Given the description of an element on the screen output the (x, y) to click on. 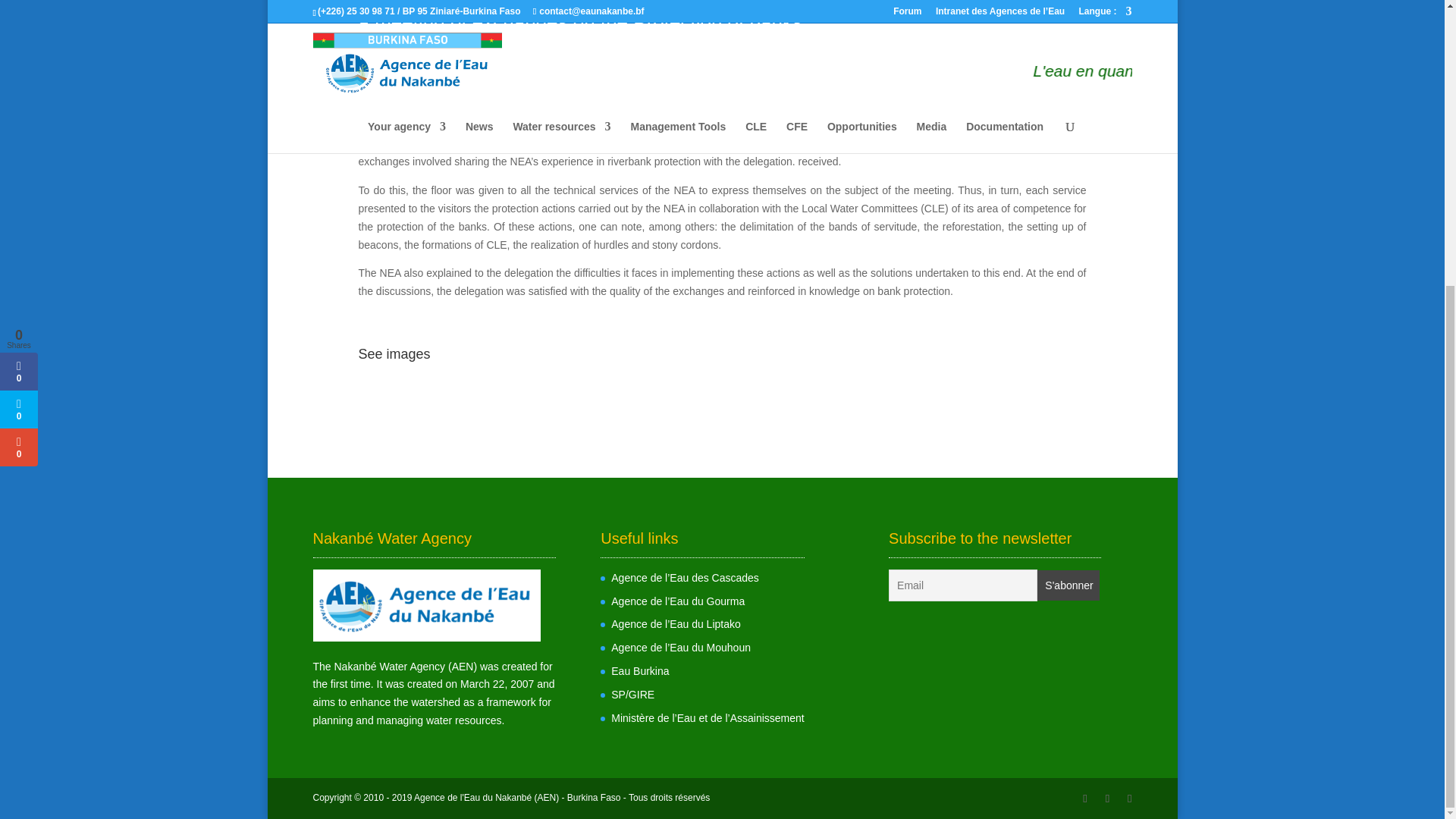
Posts by Romain SANDWIDI (427, 47)
Our news (588, 47)
Romain SANDWIDI (427, 47)
S'abonner (1067, 585)
